Given the description of an element on the screen output the (x, y) to click on. 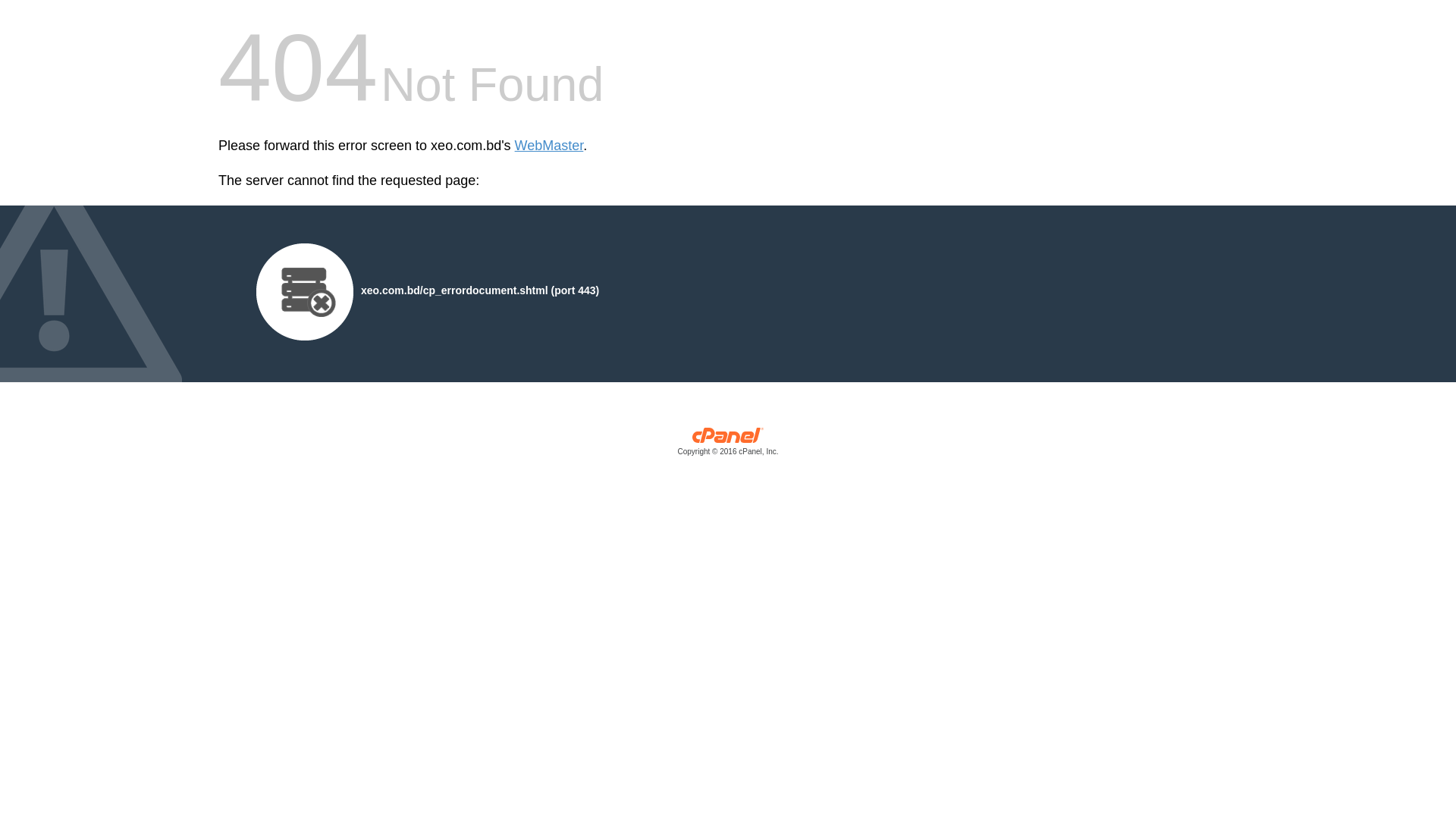
WebMaster Element type: text (548, 145)
